Given the description of an element on the screen output the (x, y) to click on. 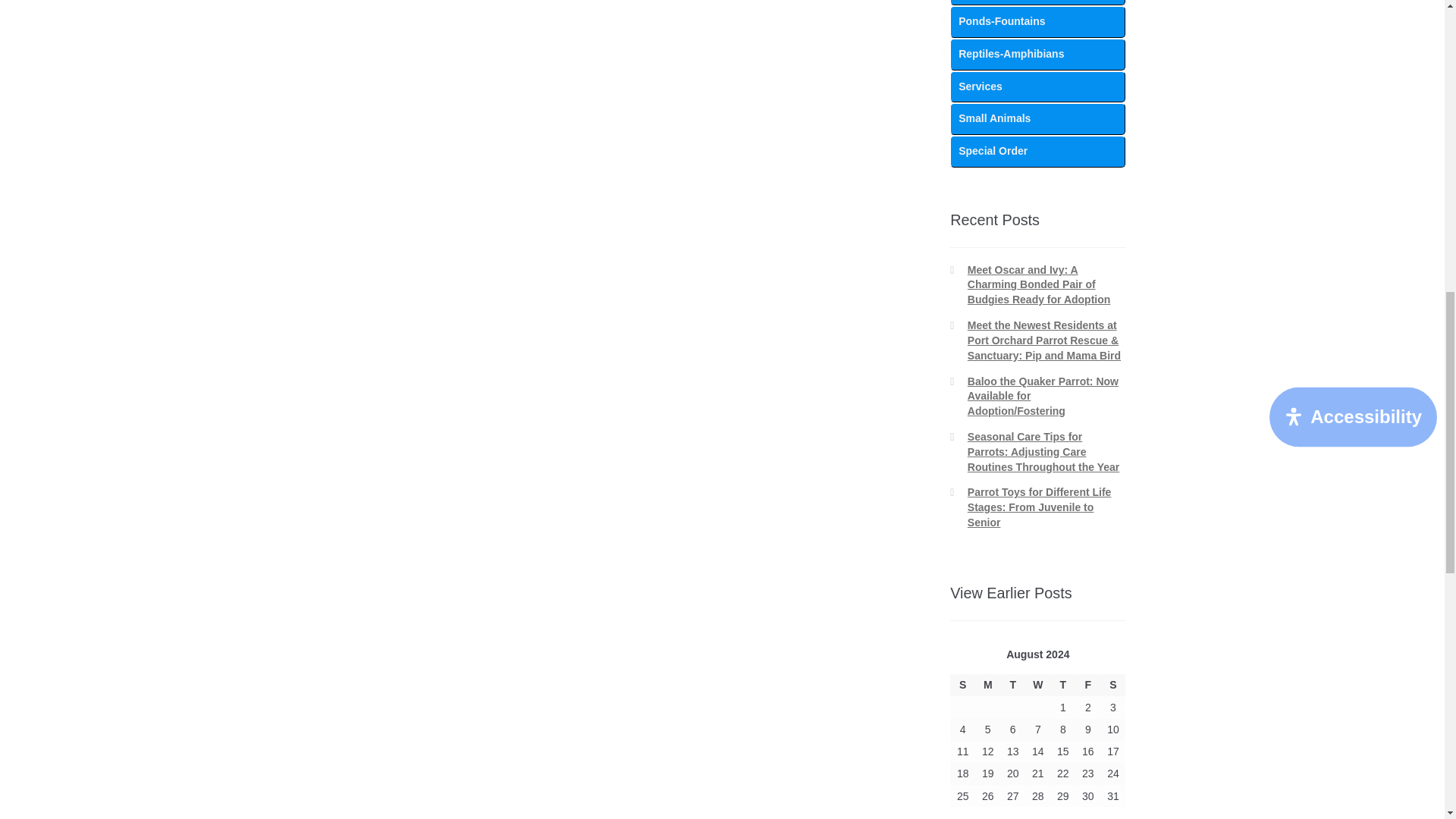
Thursday (1062, 685)
Monday (987, 685)
Saturday (1112, 685)
Friday (1087, 685)
Tuesday (1012, 685)
Sunday (962, 685)
Wednesday (1037, 685)
